Given the description of an element on the screen output the (x, y) to click on. 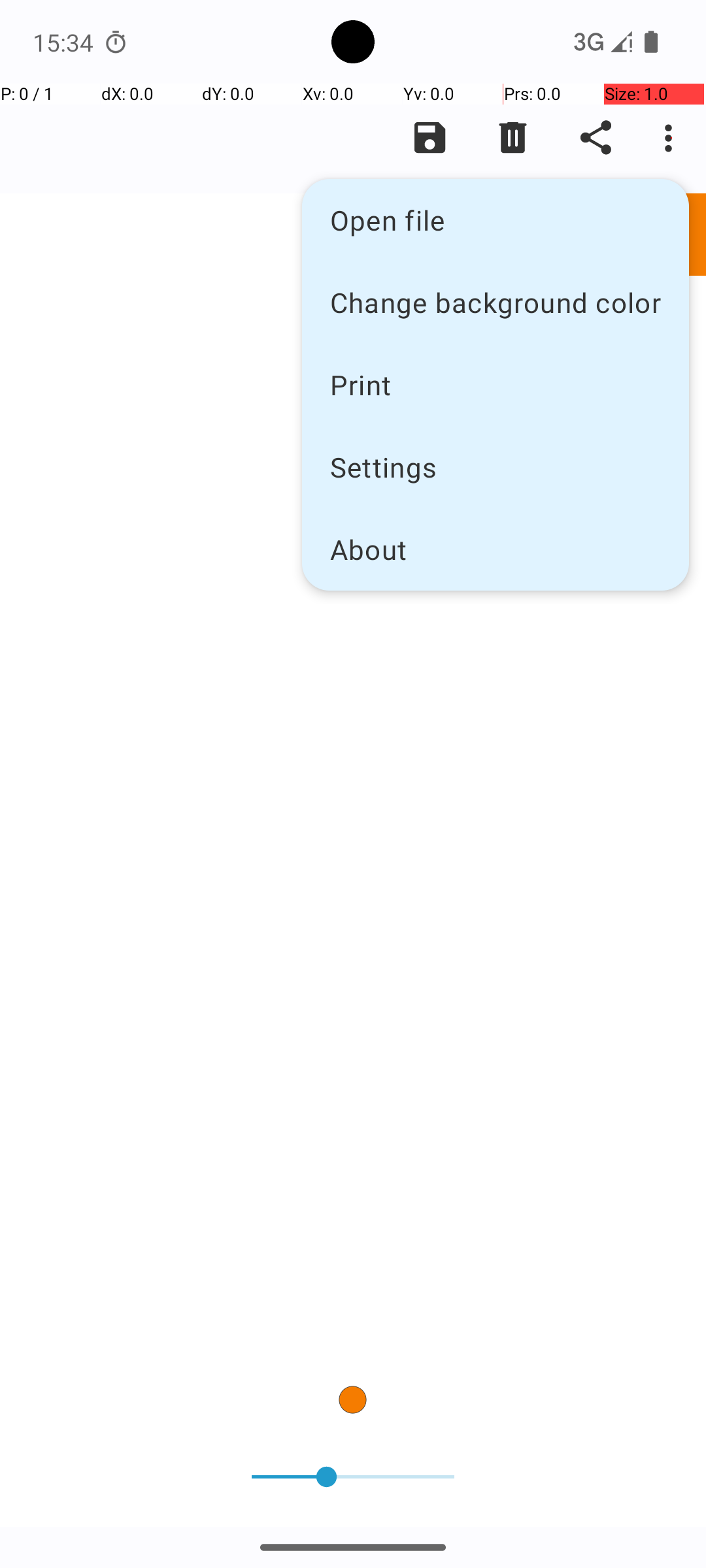
Open file Element type: android.widget.TextView (495, 219)
Change background color Element type: android.widget.TextView (495, 301)
